Given the description of an element on the screen output the (x, y) to click on. 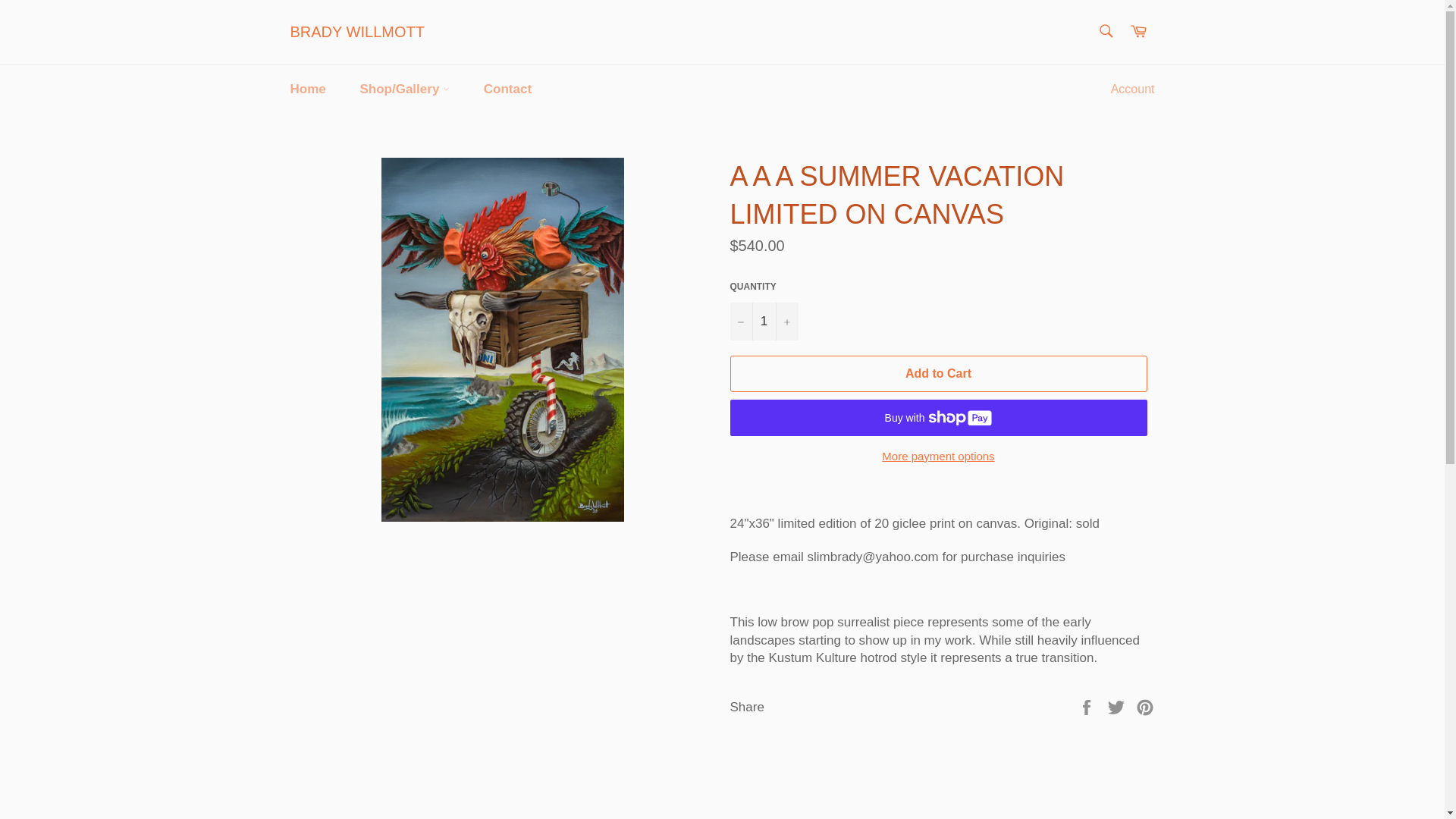
Search (1104, 30)
Contact (507, 89)
Home (307, 89)
Share on Facebook (1088, 706)
Pin on Pinterest (1144, 706)
Cart (1138, 32)
More payment options (938, 456)
Tweet on Twitter (1117, 706)
Share on Facebook (1088, 706)
Add to Cart (938, 373)
BRADY WILLMOTT (356, 32)
Tweet on Twitter (1117, 706)
1 (763, 320)
Pin on Pinterest (1144, 706)
Account (1132, 89)
